Given the description of an element on the screen output the (x, y) to click on. 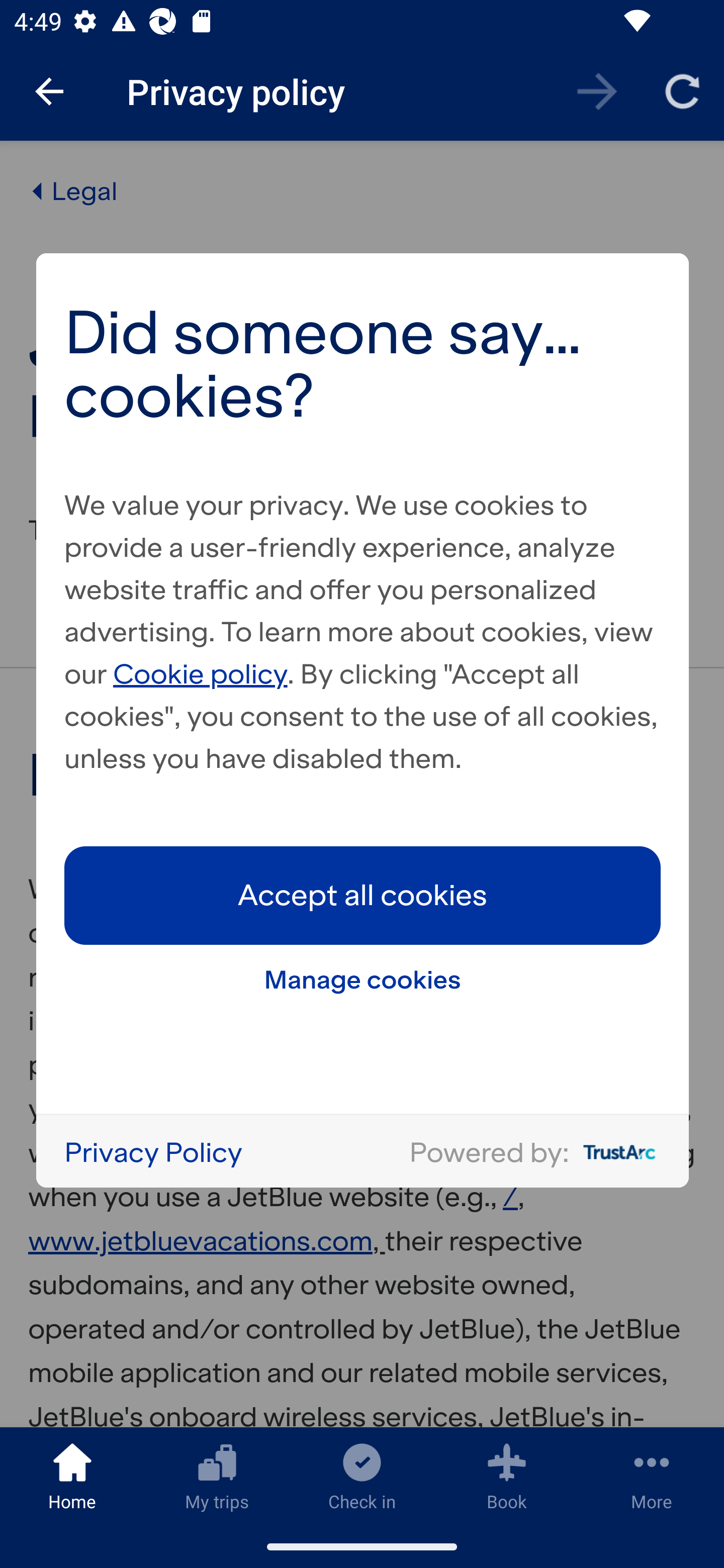
Navigate up (49, 91)
Forward (597, 90)
Reload (681, 90)
Cookie policy (200, 673)
Accept all cookies (362, 895)
Manage cookies (362, 979)
Privacy Policy (152, 1151)
Company logo for TrustArc (614, 1152)
My trips (216, 1475)
Check in (361, 1475)
Book (506, 1475)
More (651, 1475)
